Given the description of an element on the screen output the (x, y) to click on. 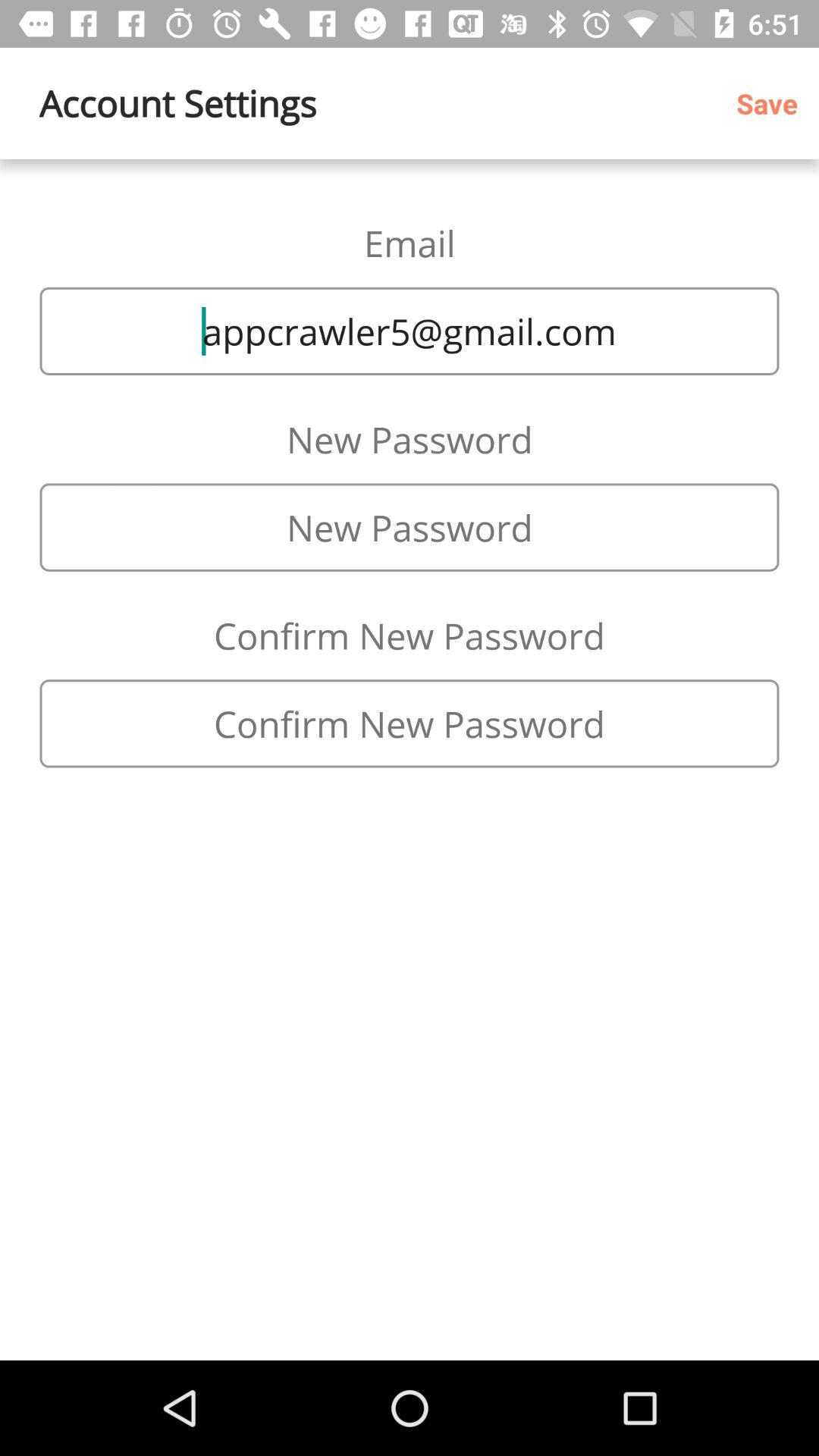
enter password (409, 527)
